Given the description of an element on the screen output the (x, y) to click on. 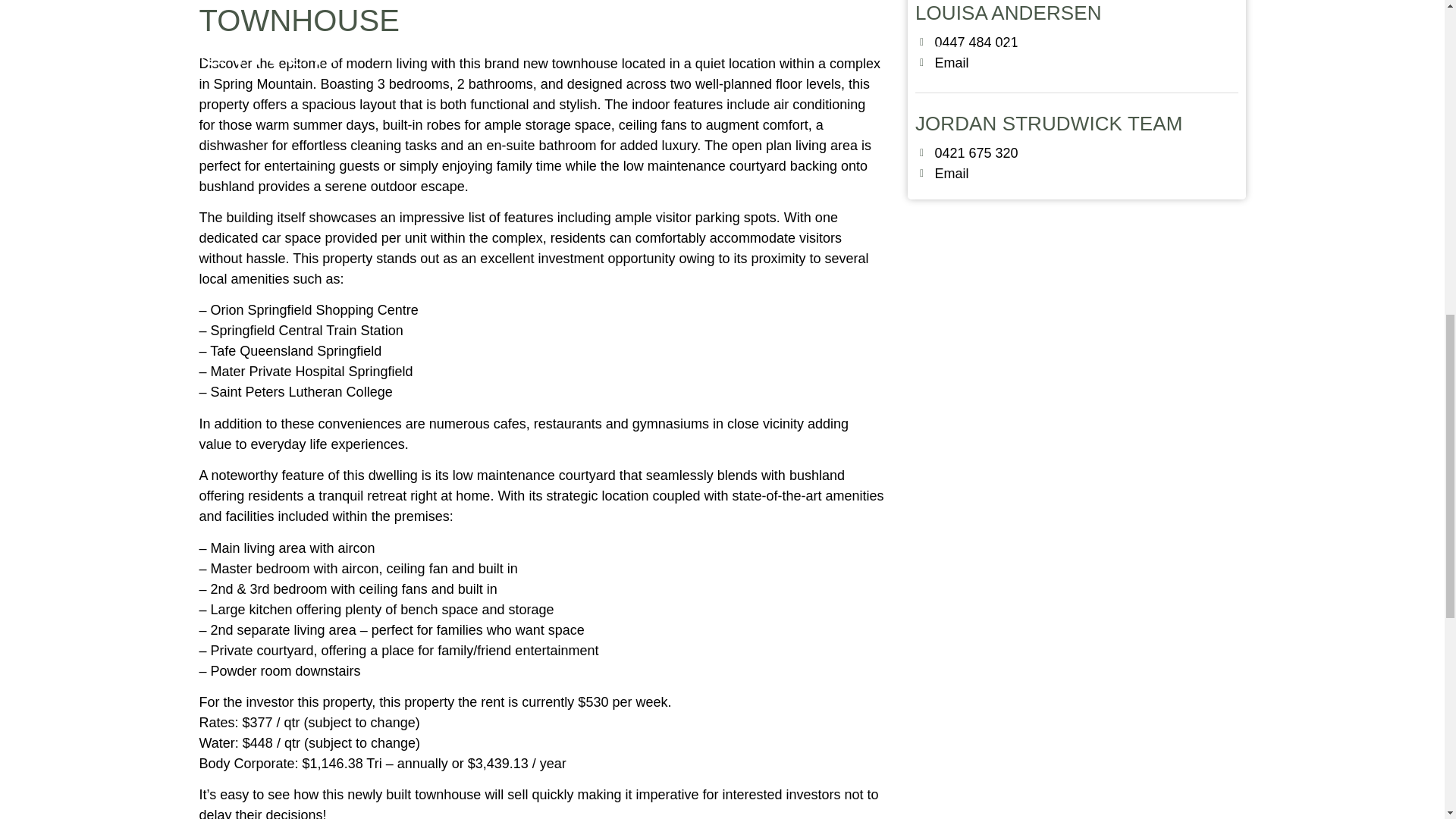
0421 675 320 (1079, 153)
Email (1079, 63)
0447 484 021 (1081, 42)
Email (1078, 173)
